Given the description of an element on the screen output the (x, y) to click on. 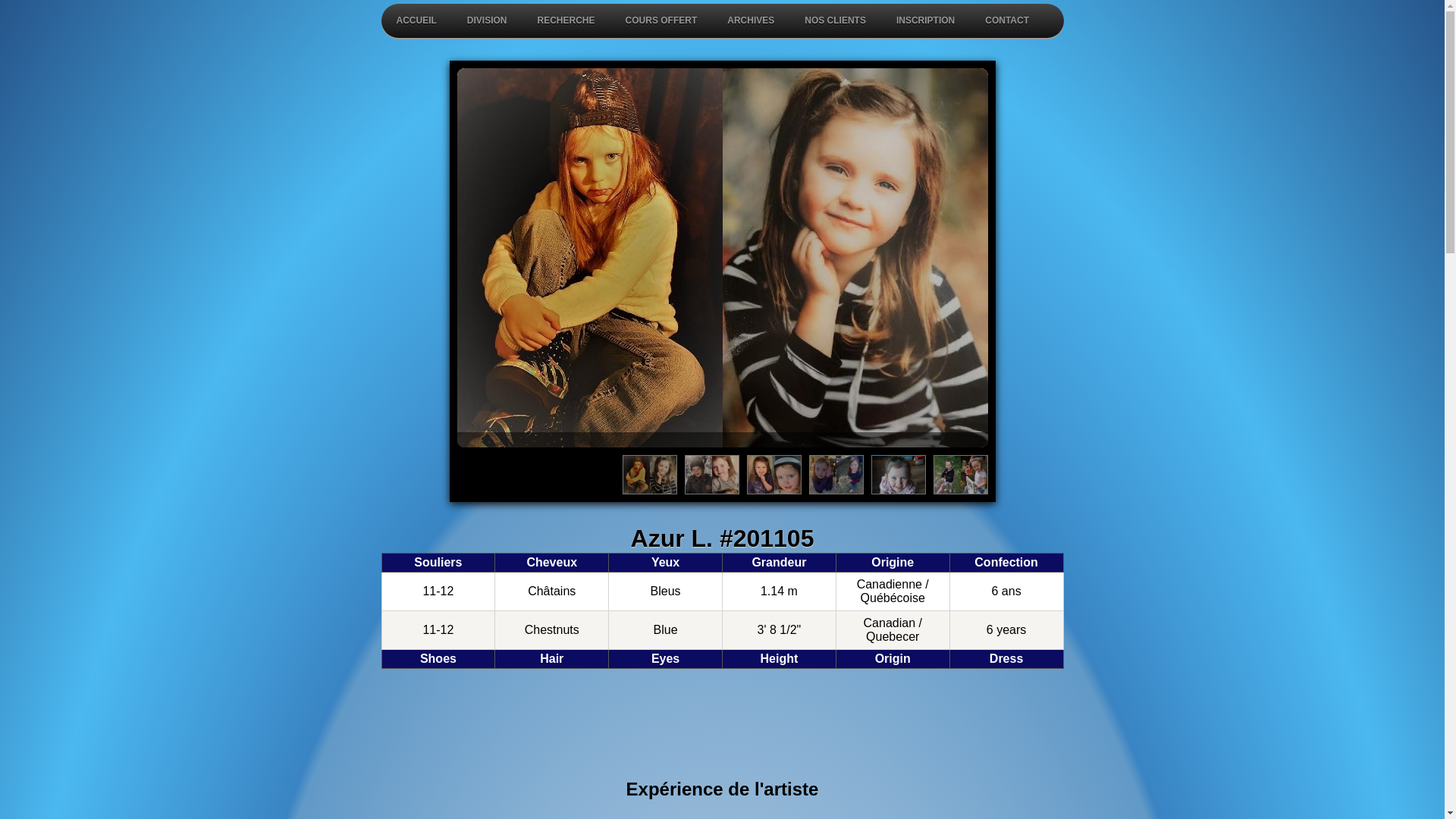
NOS CLIENTS Element type: text (835, 20)
CONTACT Element type: text (1006, 20)
INSCRIPTION Element type: text (925, 20)
RECHERCHE Element type: text (566, 20)
COURS OFFERT Element type: text (661, 20)
DIVISION Element type: text (486, 20)
ACCUEIL Element type: text (415, 20)
ARCHIVES Element type: text (750, 20)
